Given the description of an element on the screen output the (x, y) to click on. 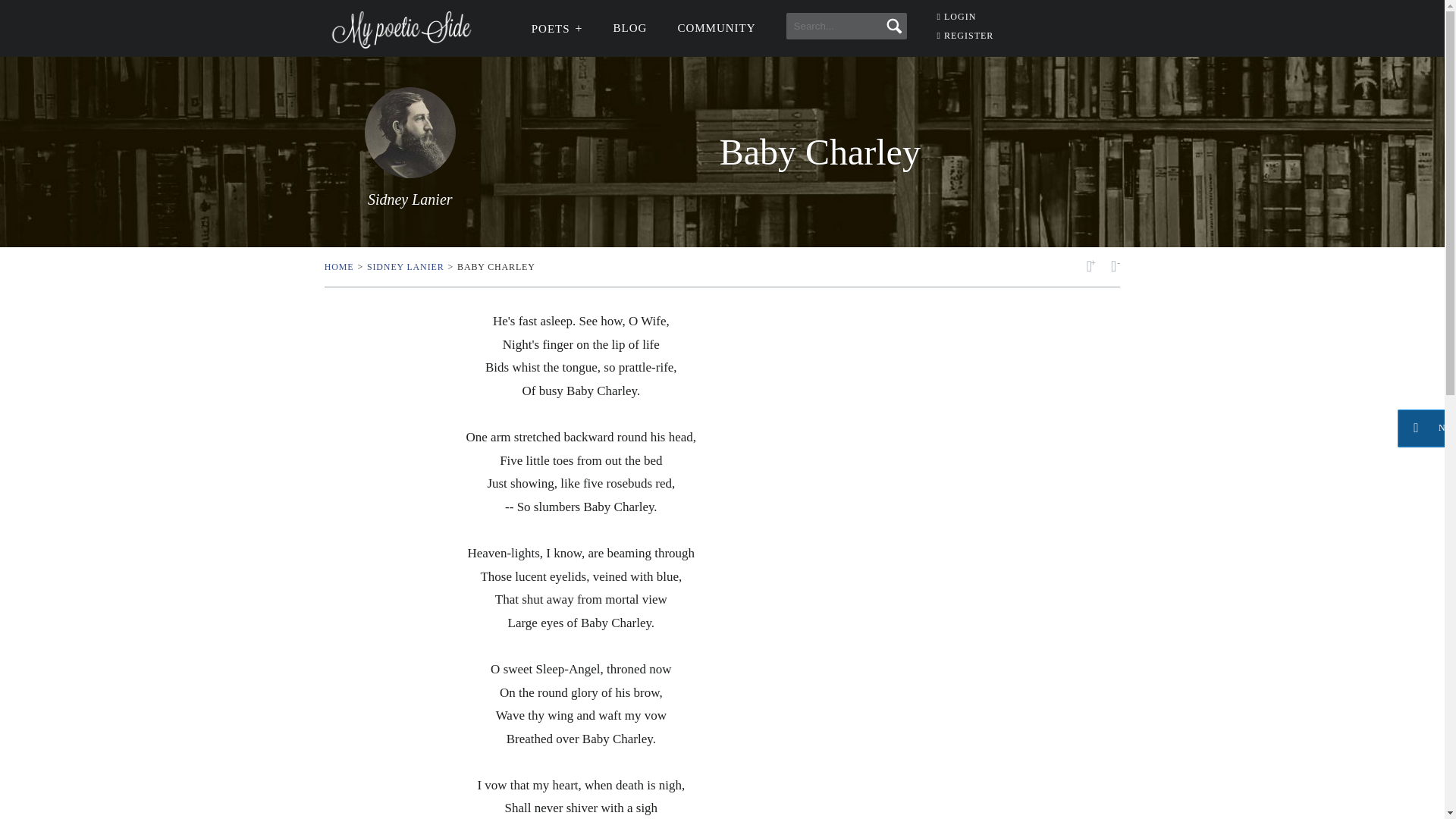
 REGISTER (965, 35)
 LOGIN (956, 16)
